Given the description of an element on the screen output the (x, y) to click on. 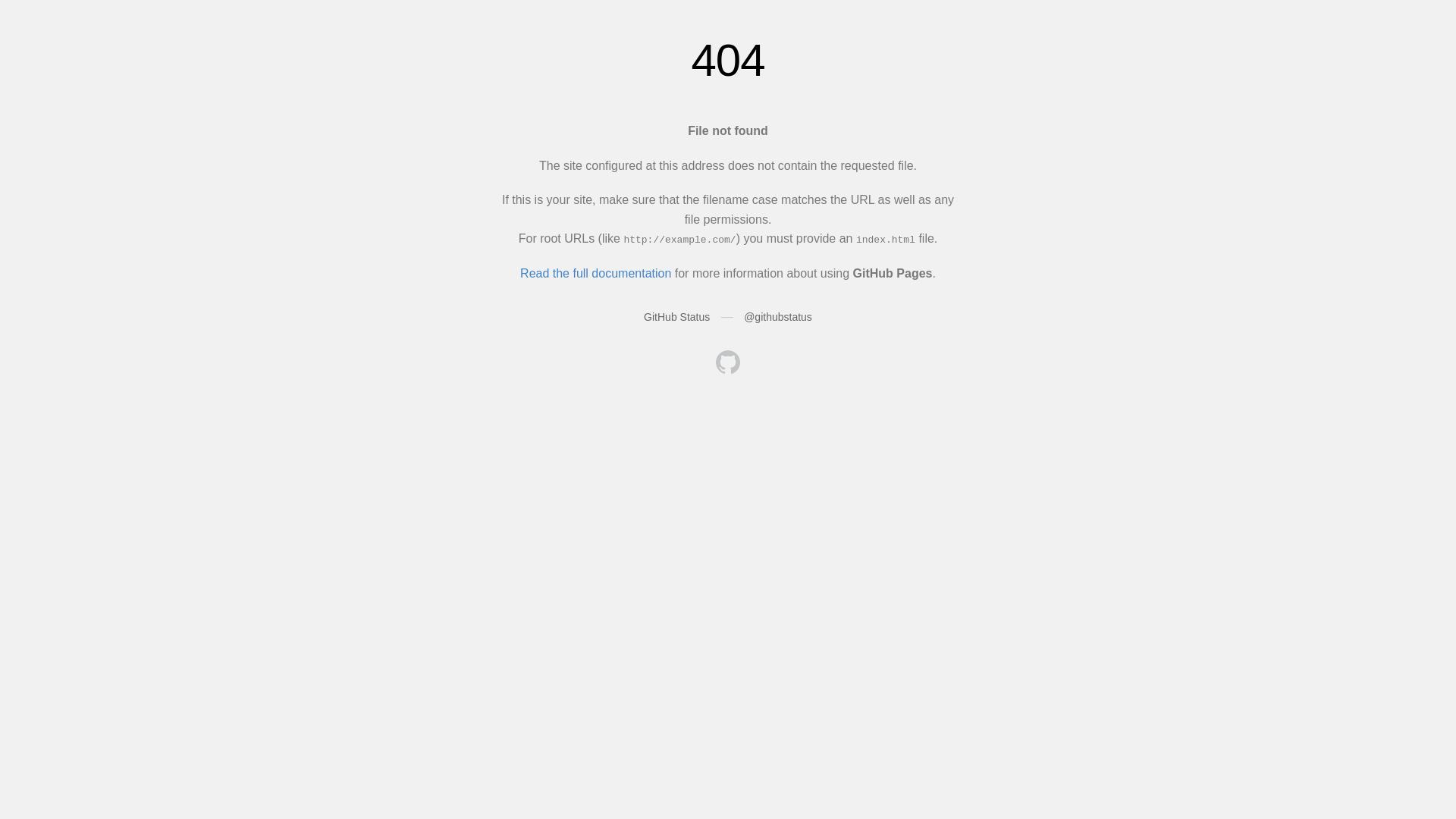
@githubstatus Element type: text (777, 316)
Read the full documentation Element type: text (595, 272)
GitHub Status Element type: text (676, 316)
